Given the description of an element on the screen output the (x, y) to click on. 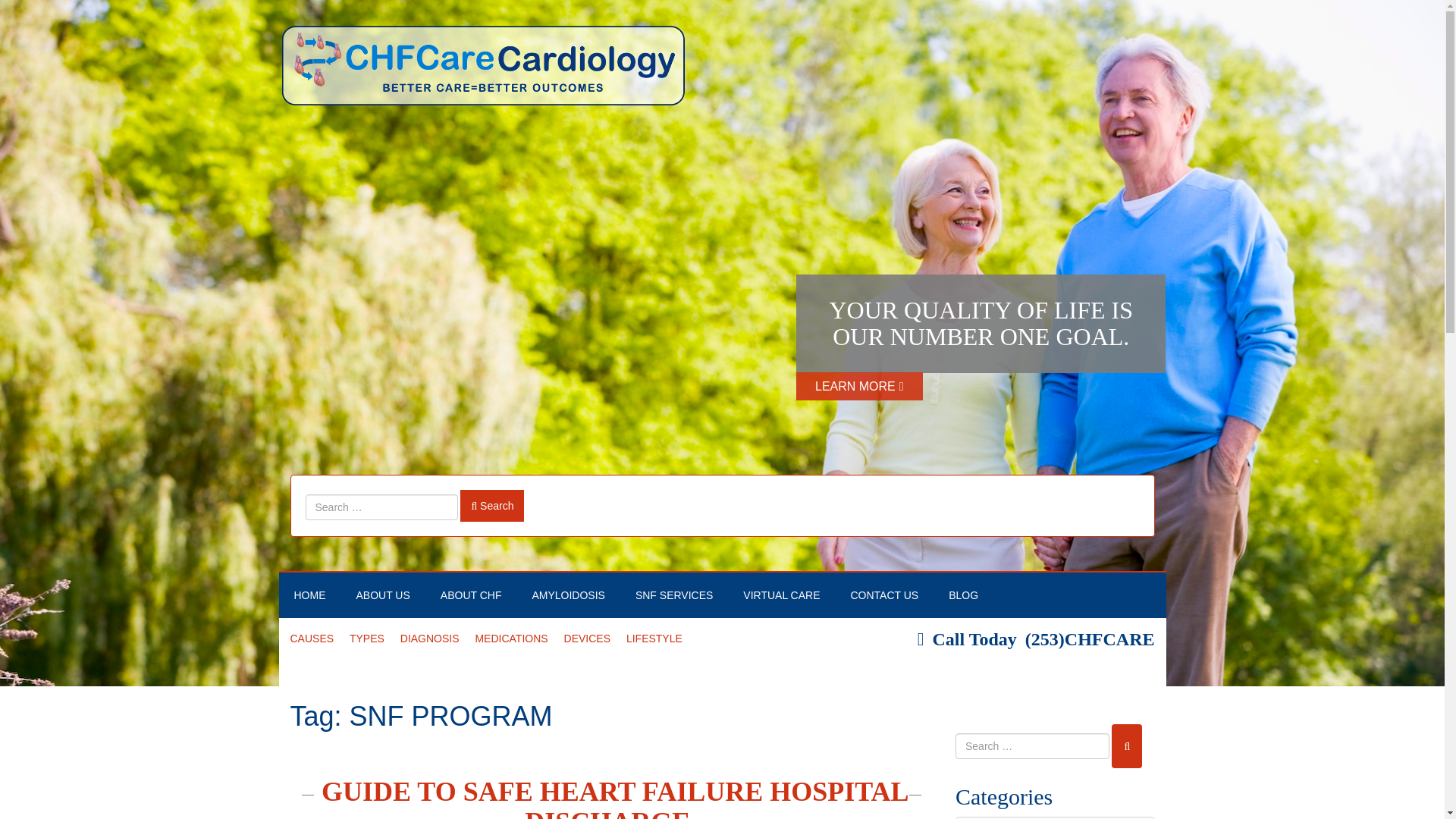
ABOUT CHF (470, 595)
 Search (492, 505)
AMYLOIDOSIS (568, 595)
ABOUT US (382, 595)
VIRTUAL CARE (781, 595)
TYPES (366, 639)
SNF SERVICES (674, 595)
GUIDE TO SAFE HEART FAILURE HOSPITAL DISCHARGE (611, 797)
LEARN MORE (859, 386)
HOME (309, 595)
CAUSES (311, 639)
MEDICATIONS (510, 639)
DIAGNOSIS (430, 639)
CONTACT US (884, 595)
BLOG (962, 595)
